Given the description of an element on the screen output the (x, y) to click on. 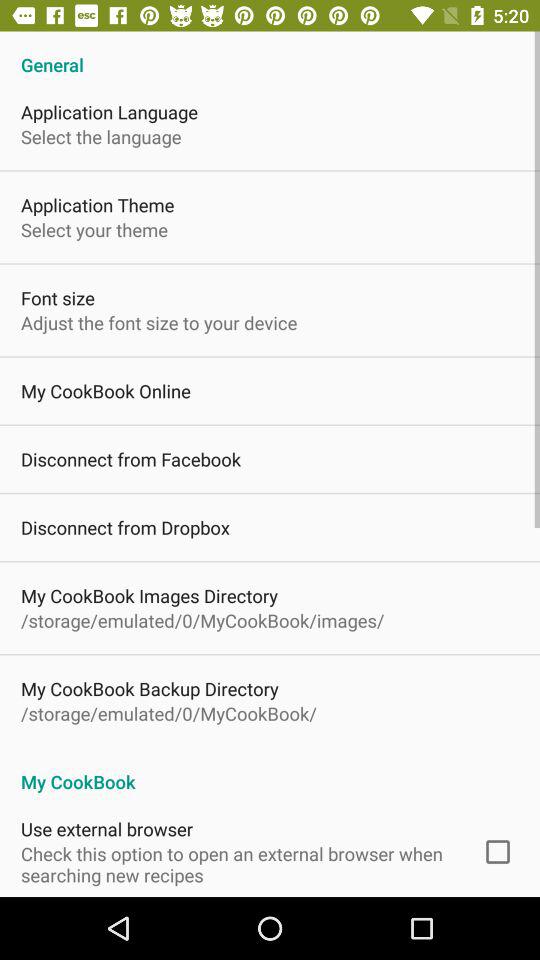
turn off checkbox at the bottom right corner (497, 852)
